Given the description of an element on the screen output the (x, y) to click on. 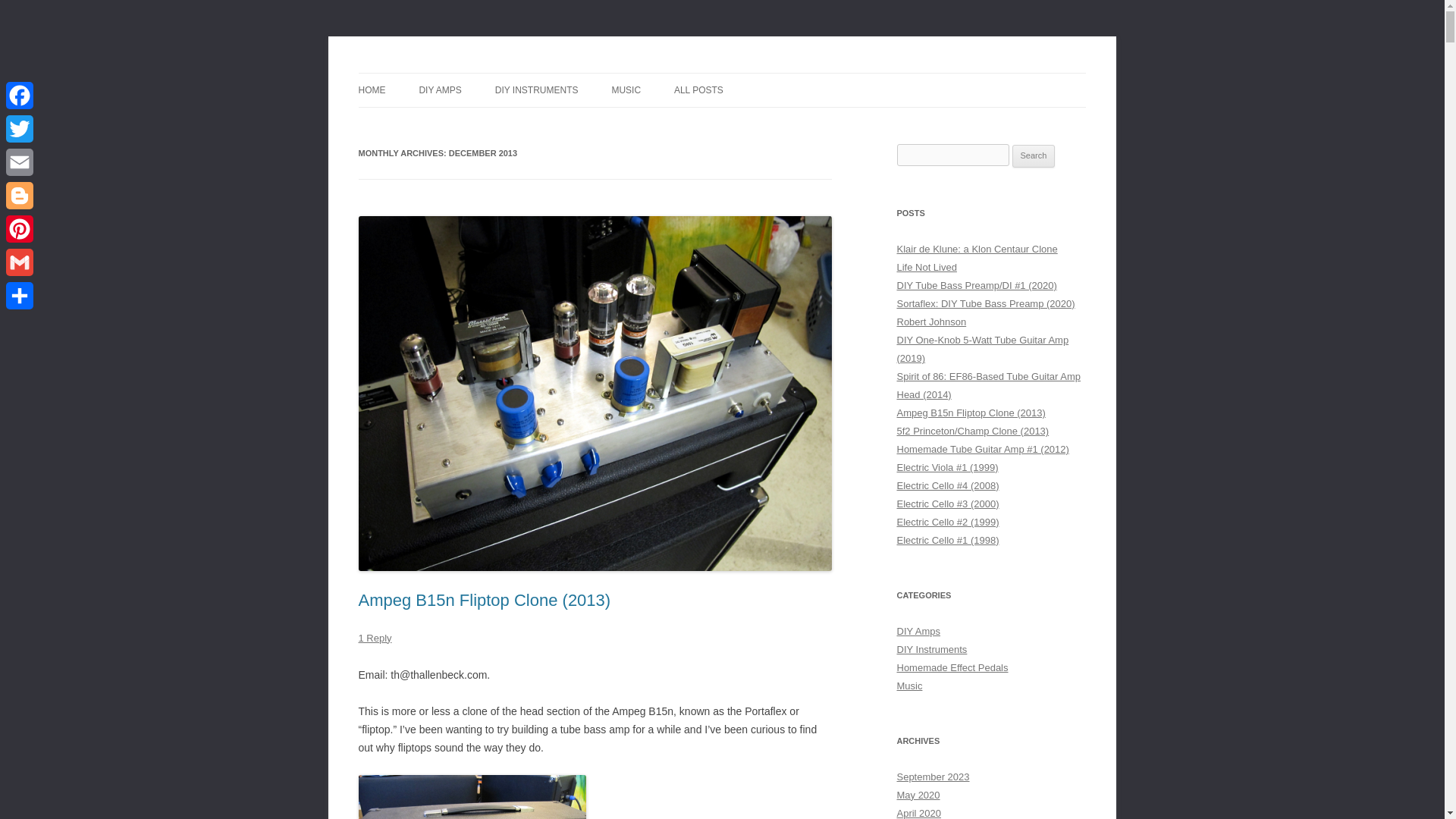
DIY AMPS (440, 90)
ALL POSTS (698, 90)
T. Hallenbeck (420, 72)
Search (1033, 155)
1 Reply (374, 637)
DIY INSTRUMENTS (536, 90)
T. Hallenbeck (420, 72)
